Given the description of an element on the screen output the (x, y) to click on. 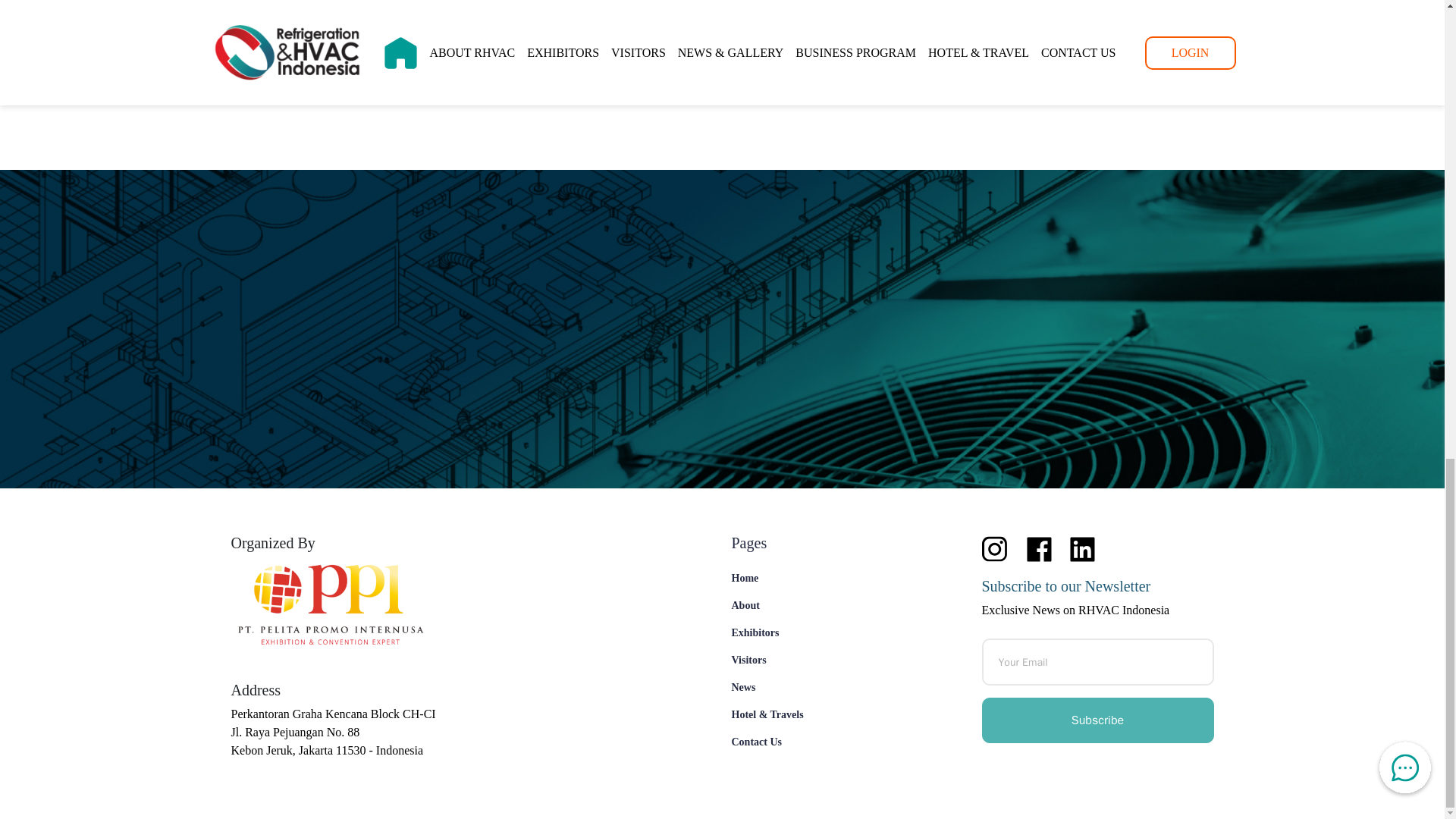
Home (831, 578)
About (831, 605)
